Given the description of an element on the screen output the (x, y) to click on. 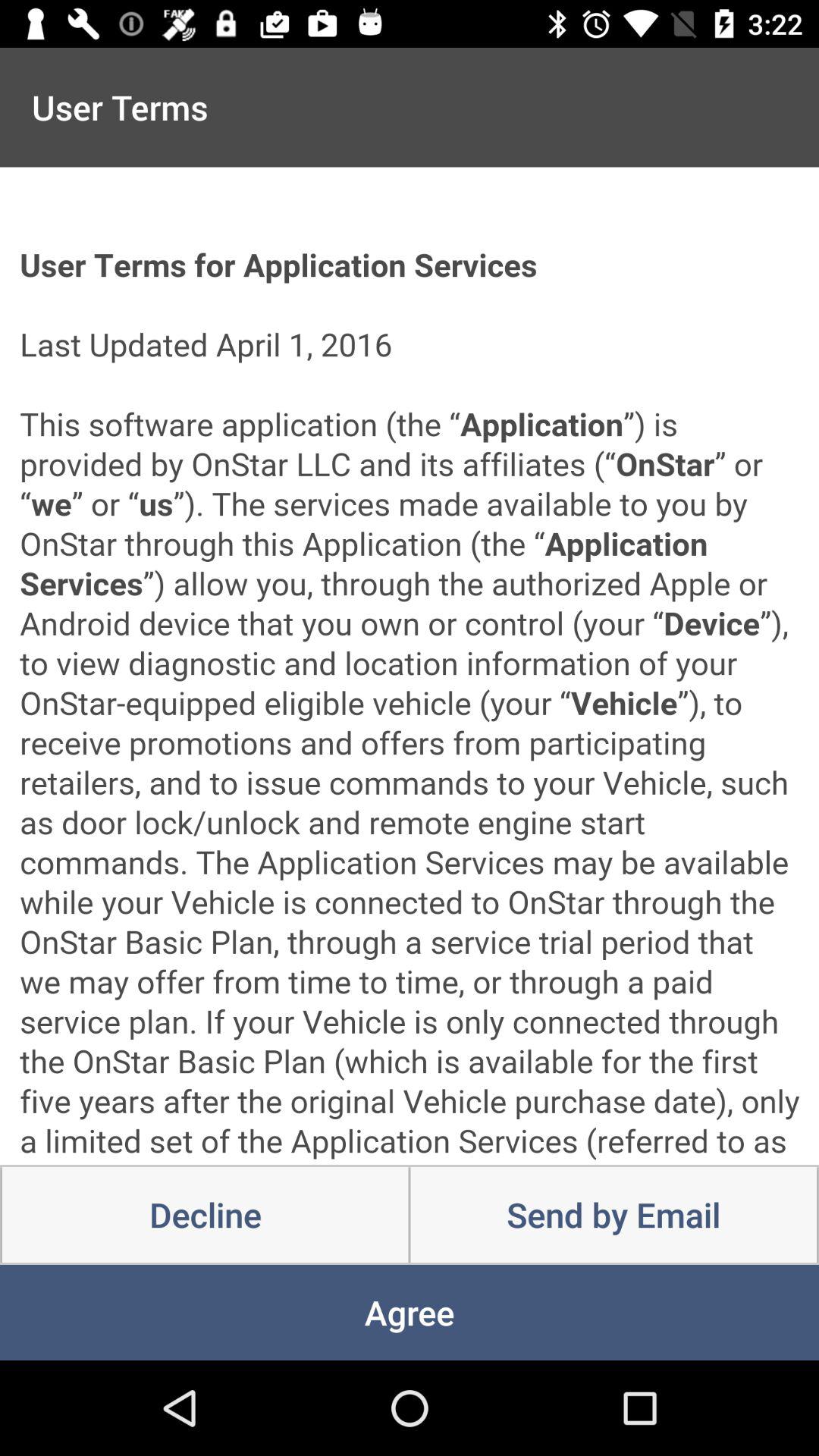
choose send by email item (613, 1214)
